Given the description of an element on the screen output the (x, y) to click on. 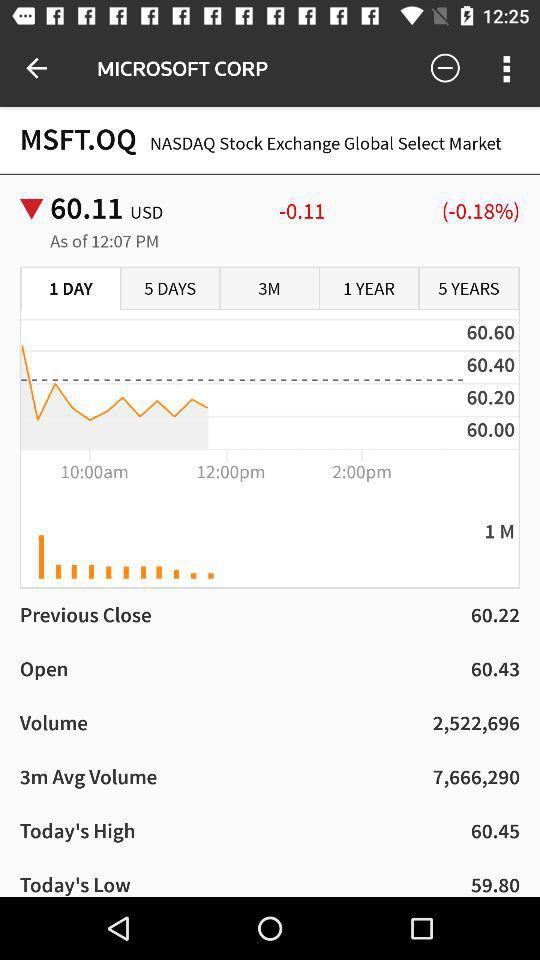
tap the icon next to 5 days item (71, 289)
